Given the description of an element on the screen output the (x, y) to click on. 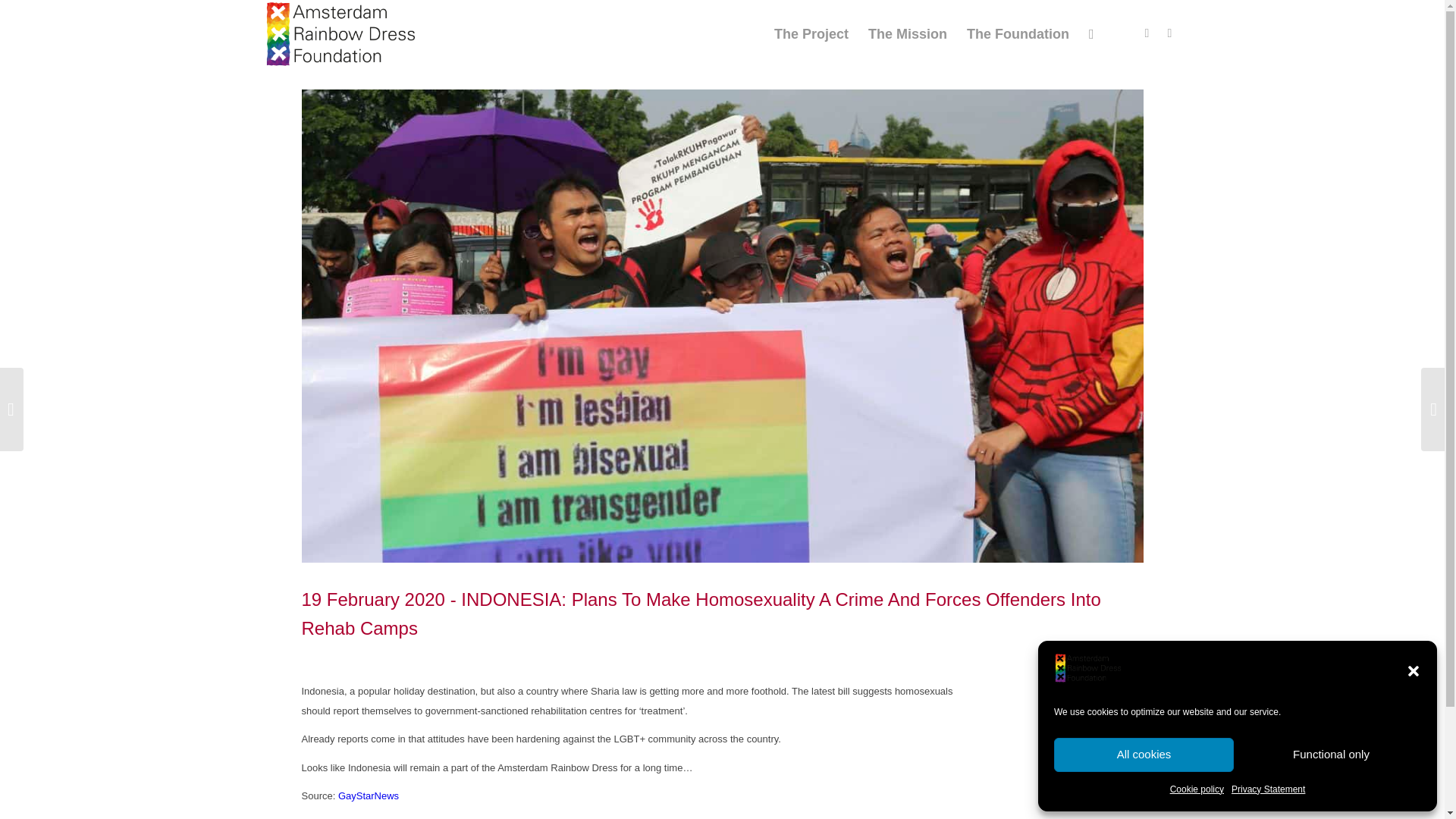
The Project (811, 33)
Instagram (1169, 33)
Cookie policy (1197, 789)
Facebook (1146, 33)
GayStarNews (367, 795)
All cookies (1143, 754)
Functional only (1331, 754)
Privacy Statement (1267, 789)
The Foundation (1017, 33)
The Mission (907, 33)
